Given the description of an element on the screen output the (x, y) to click on. 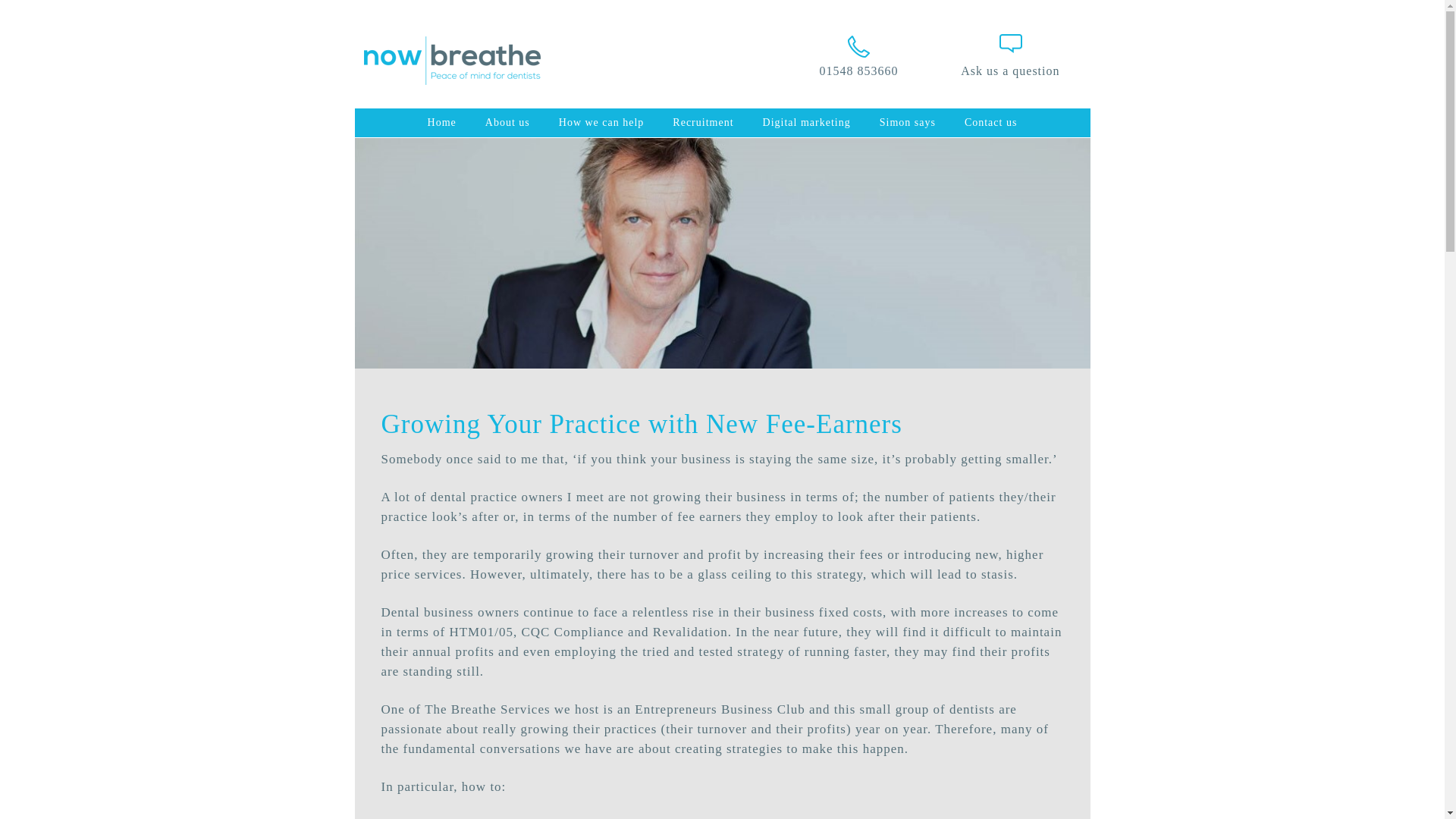
nowbreathe (459, 78)
01548 853660 (858, 55)
Recruitment (703, 122)
Home (441, 122)
How we can help (601, 122)
Contact us (991, 122)
About us (507, 122)
Ask us a question (1009, 70)
Digital marketing (806, 122)
Simon says (907, 122)
